Given the description of an element on the screen output the (x, y) to click on. 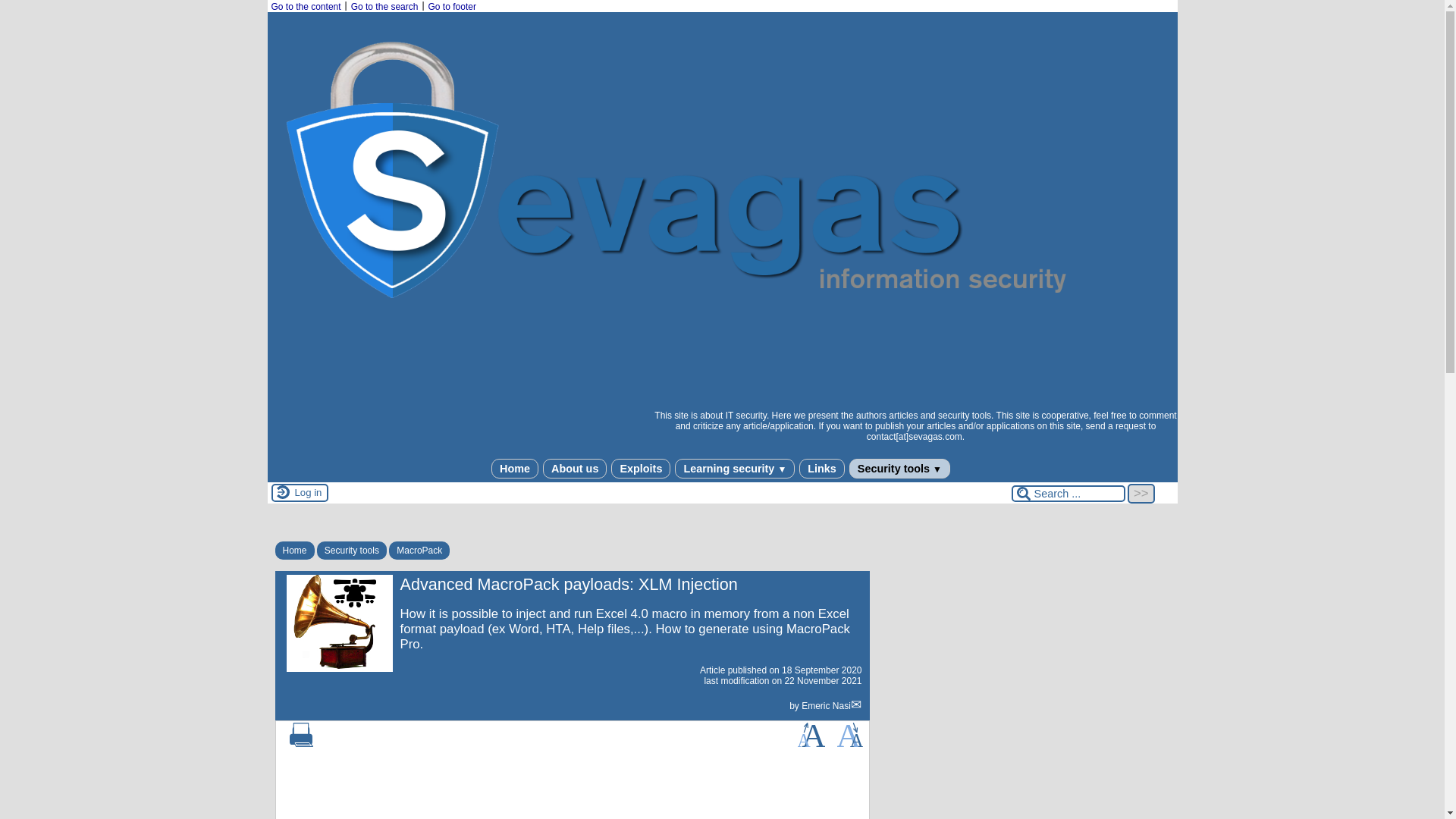
Exploits (640, 467)
Go to the content (305, 6)
Home (294, 550)
Home (515, 467)
About us (575, 467)
Log in (307, 492)
Home (515, 467)
Go to footer (452, 6)
Links (821, 467)
